Given the description of an element on the screen output the (x, y) to click on. 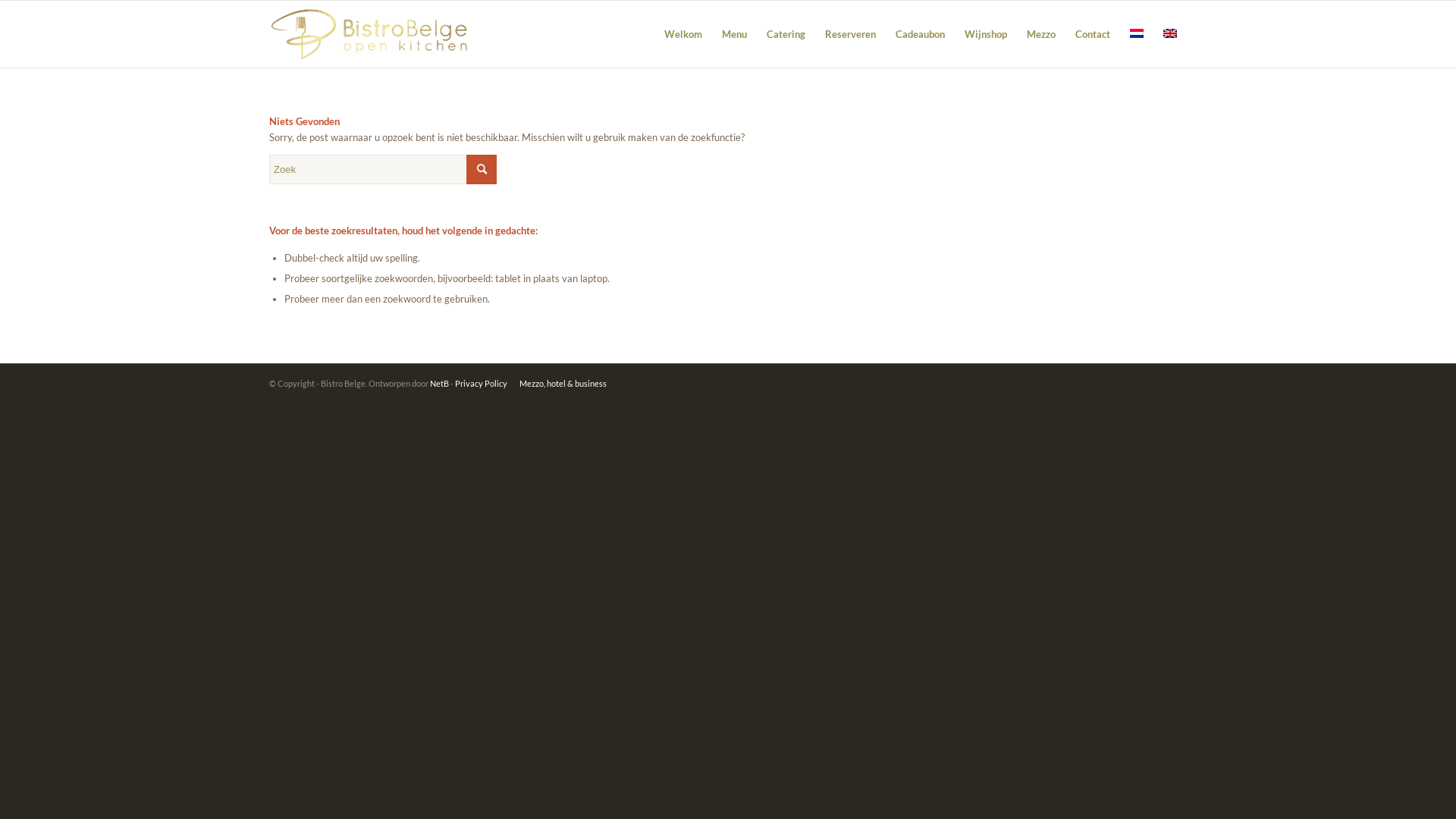
Nederlands Element type: hover (1136, 32)
Reserveren Element type: text (850, 33)
Welkom Element type: text (683, 33)
NetB Element type: text (438, 383)
Contact Element type: text (1092, 33)
Catering Element type: text (785, 33)
Privacy Policy Element type: text (481, 383)
Mezzo Element type: text (1040, 33)
English Element type: hover (1169, 32)
Menu Element type: text (734, 33)
Wijnshop Element type: text (985, 33)
Cadeaubon Element type: text (919, 33)
Mezzo, hotel & business Element type: text (562, 383)
bistro-logo-horizontal Element type: hover (369, 33)
